Given the description of an element on the screen output the (x, y) to click on. 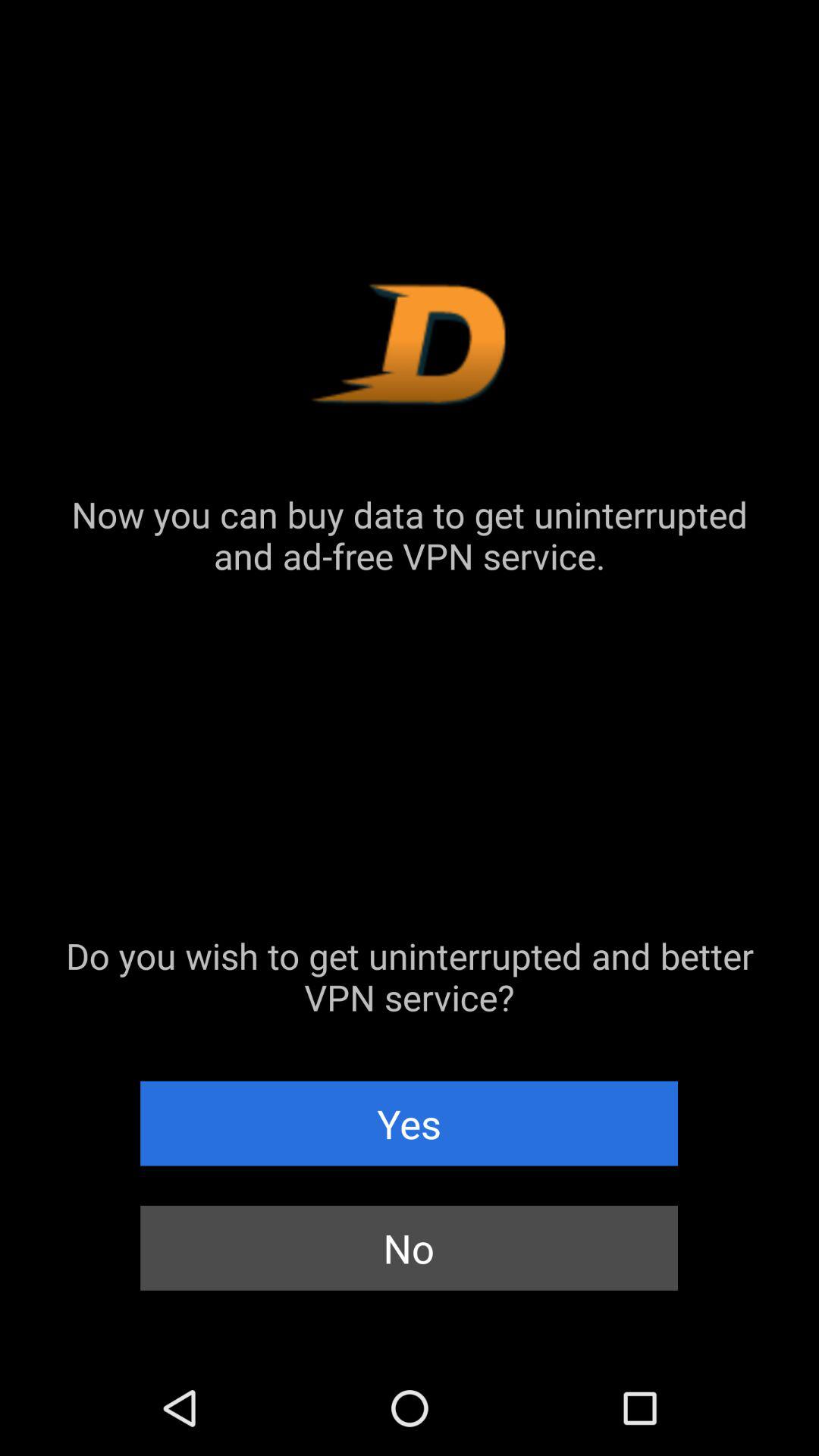
select the app below the do you wish item (408, 1123)
